Given the description of an element on the screen output the (x, y) to click on. 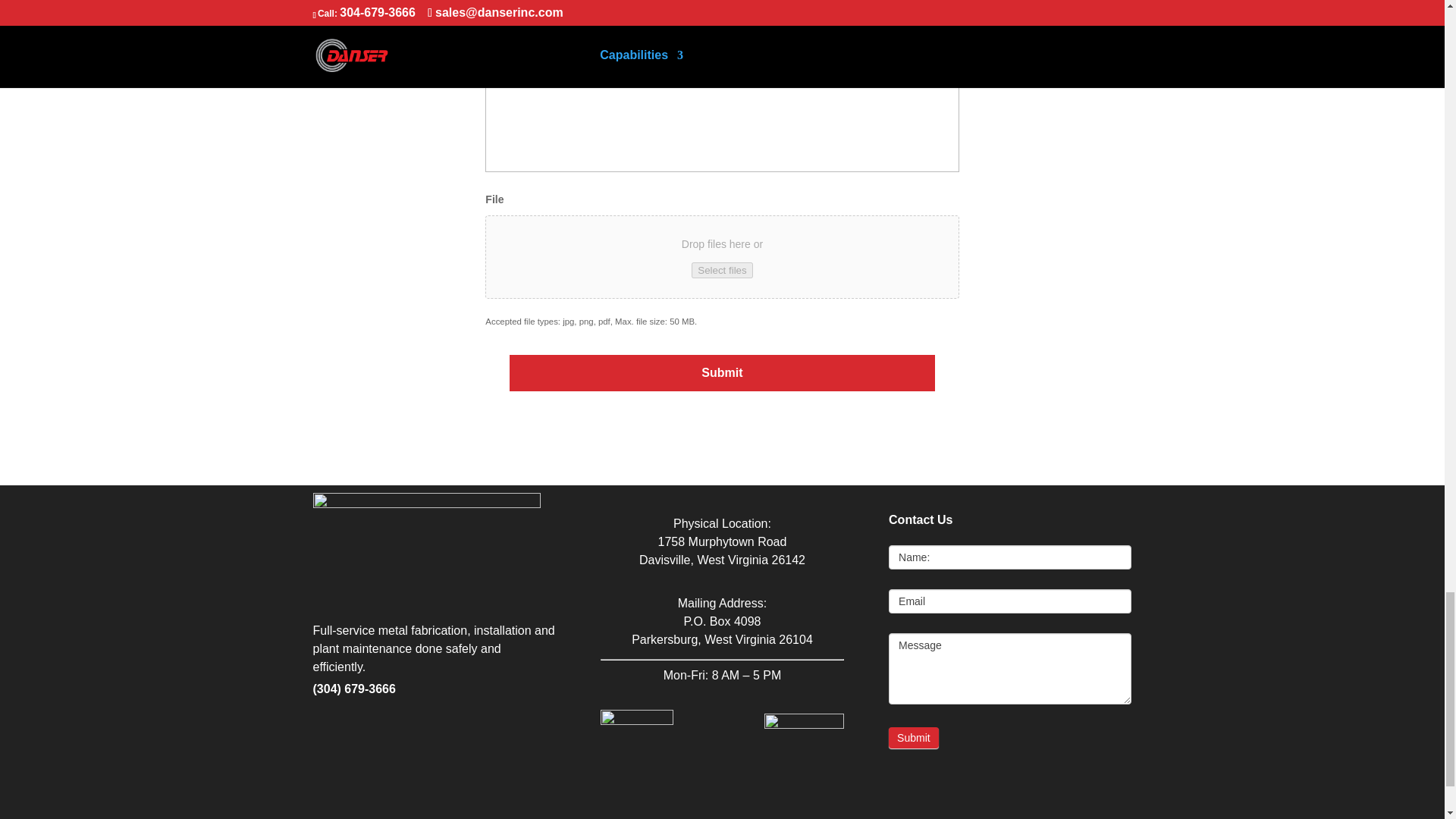
Submit (913, 737)
Submit (722, 372)
Select files (721, 270)
Submit (722, 372)
Other (491, 6)
